Given the description of an element on the screen output the (x, y) to click on. 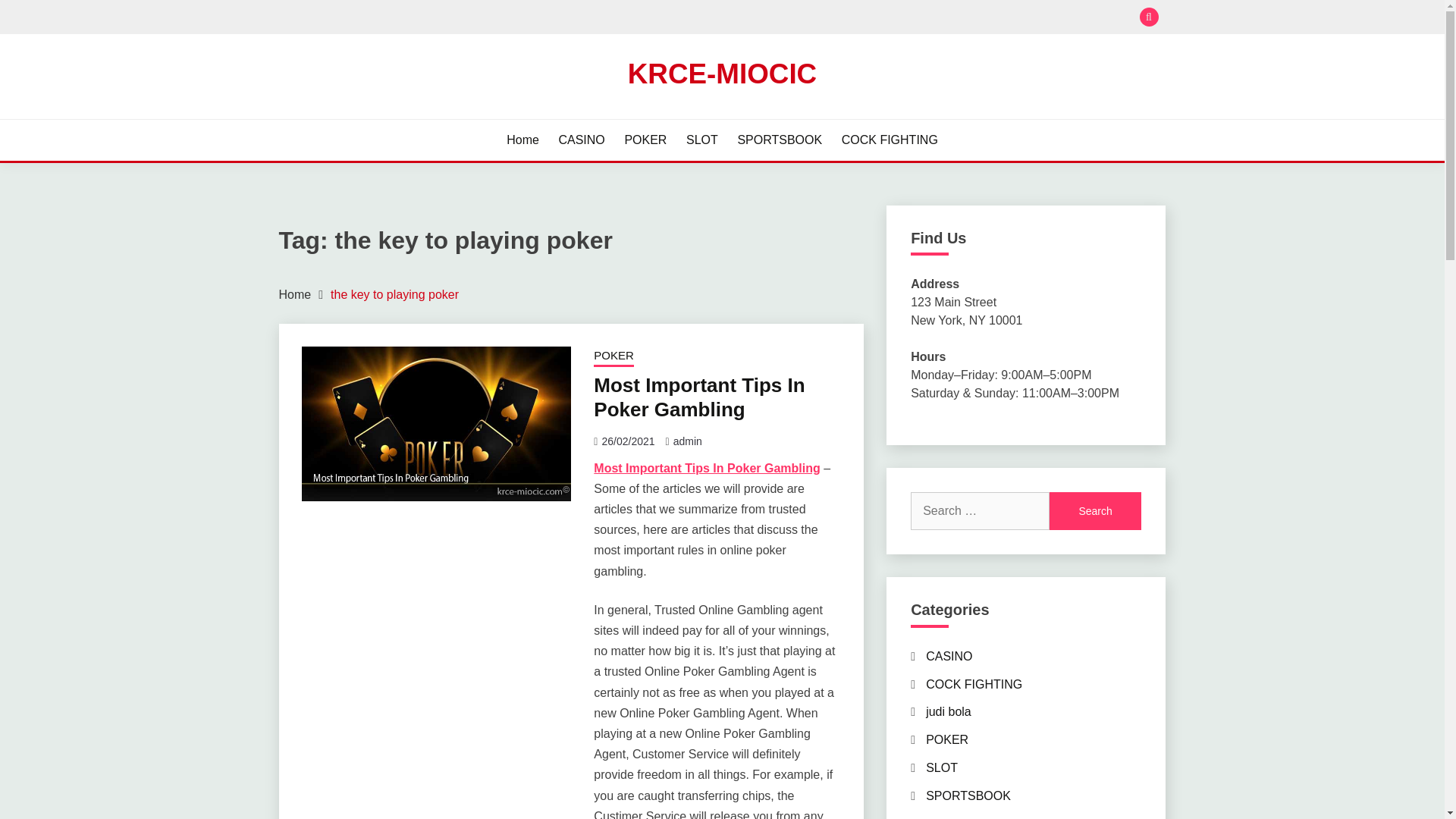
SLOT (701, 140)
Togel (940, 818)
SPORTSBOOK (779, 140)
the key to playing poker (394, 294)
POKER (613, 356)
Search (832, 18)
POKER (645, 140)
CASINO (580, 140)
SPORTSBOOK (968, 795)
COCK FIGHTING (889, 140)
Most Important Tips In Poker Gambling (706, 468)
admin (686, 440)
Search (1095, 510)
Most Important Tips In Poker Gambling  (699, 397)
COCK FIGHTING (974, 684)
